Given the description of an element on the screen output the (x, y) to click on. 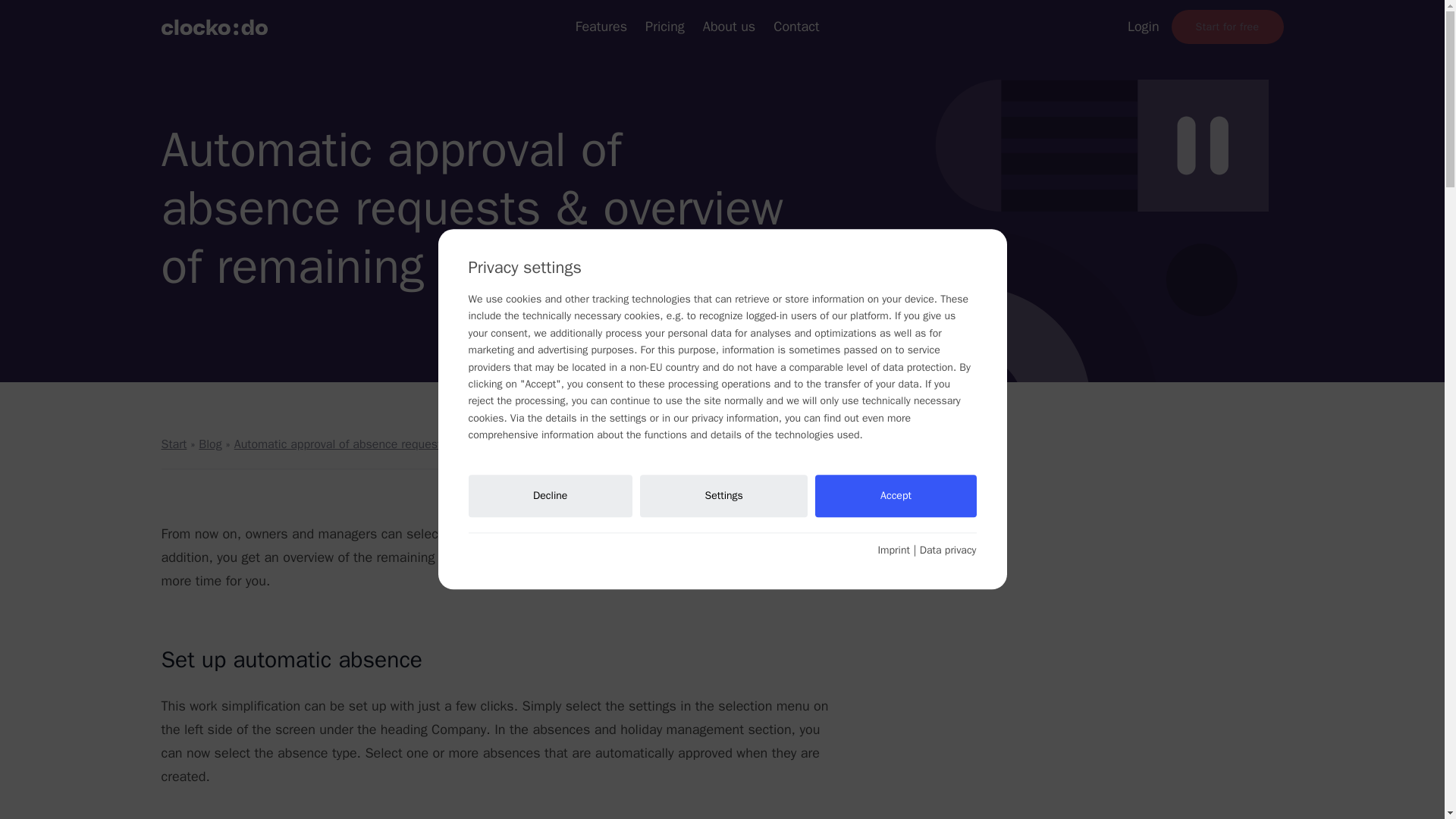
Start (173, 444)
Blog (209, 444)
Contact (795, 26)
Features (601, 26)
Pricing (664, 26)
Start for free (1228, 26)
About us (729, 26)
Login (1142, 26)
